Given the description of an element on the screen output the (x, y) to click on. 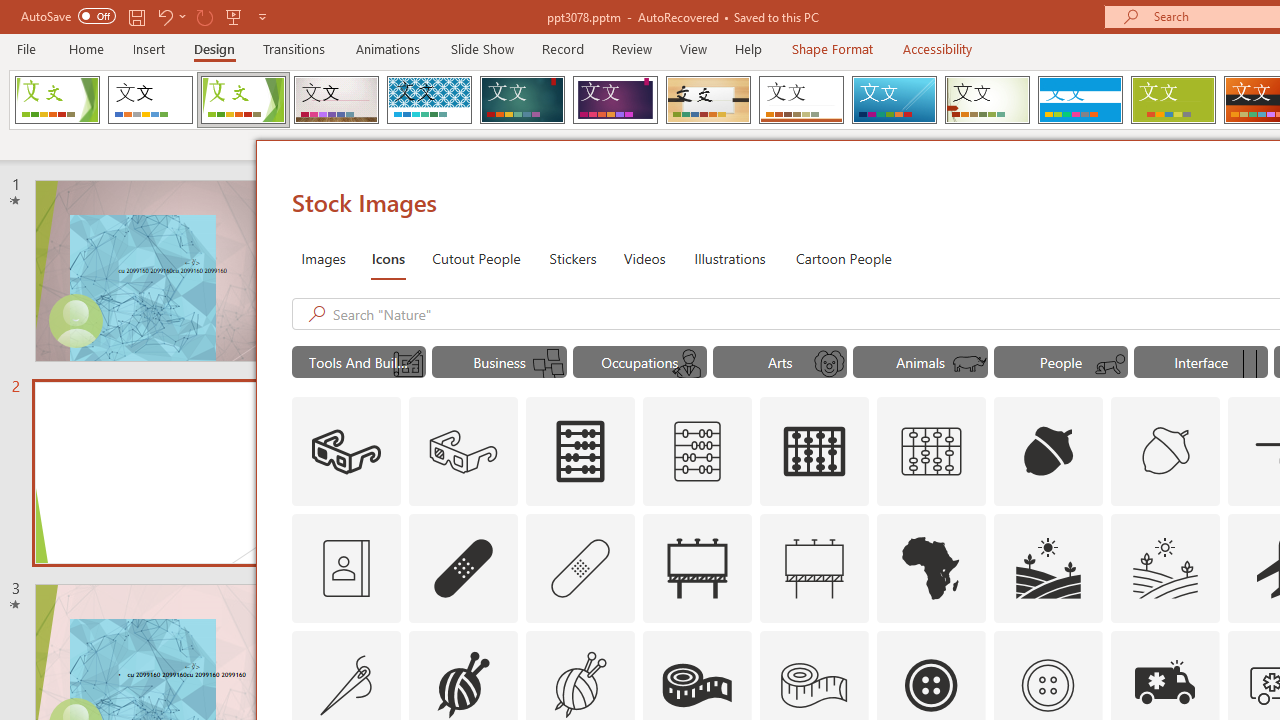
AutomationID: Icons_Abacus (580, 452)
Banded (1080, 100)
AutomationID: Icons (1047, 685)
AutomationID: Icons_Blueprint_M (408, 364)
Organic (708, 100)
AutomationID: Icons_Abacus1_M (931, 452)
Integral (429, 100)
Shape Format (832, 48)
